Given the description of an element on the screen output the (x, y) to click on. 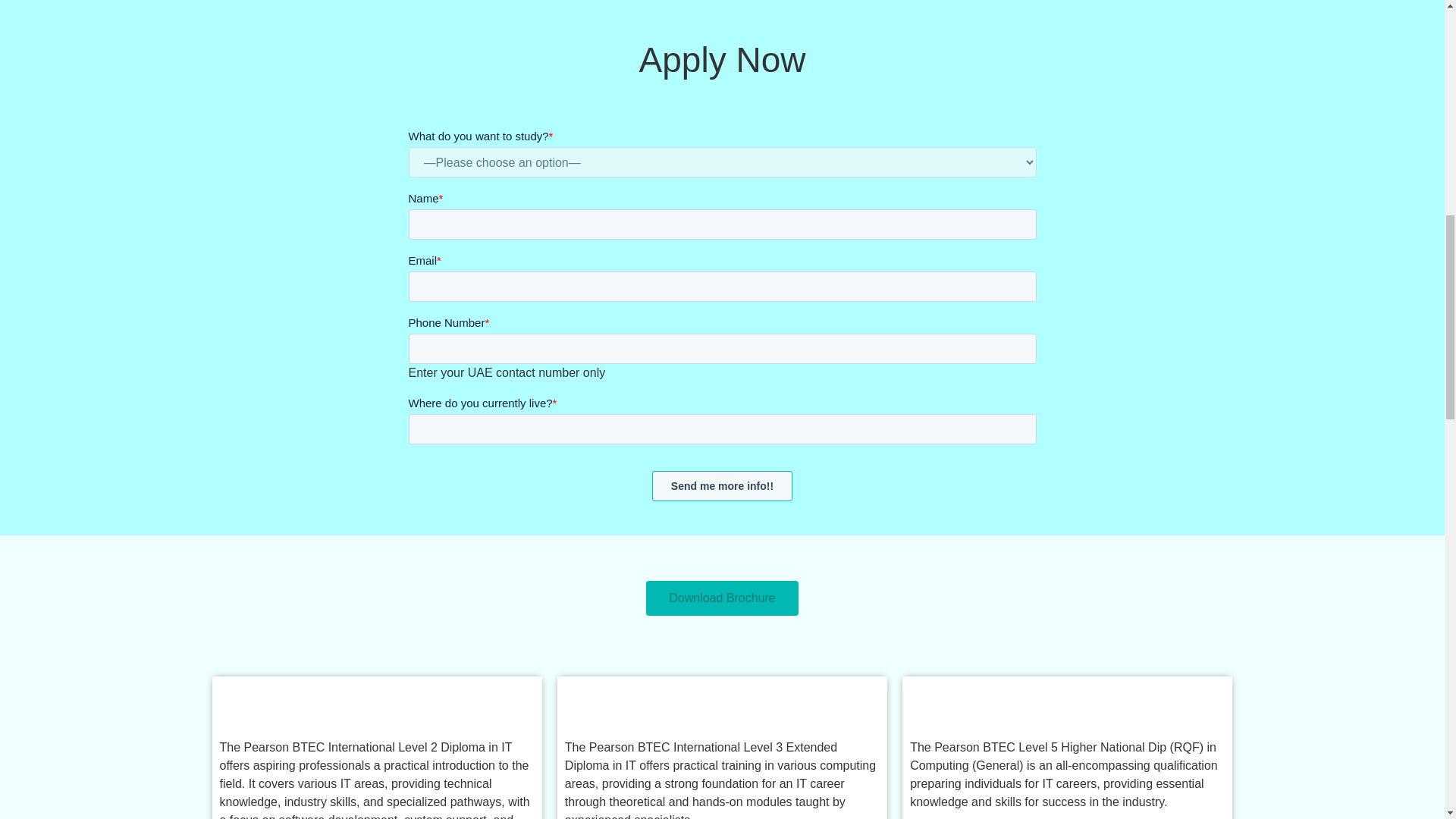
Send me more info!! (722, 485)
Download Brochure (721, 597)
Send me more info!! (722, 485)
